Given the description of an element on the screen output the (x, y) to click on. 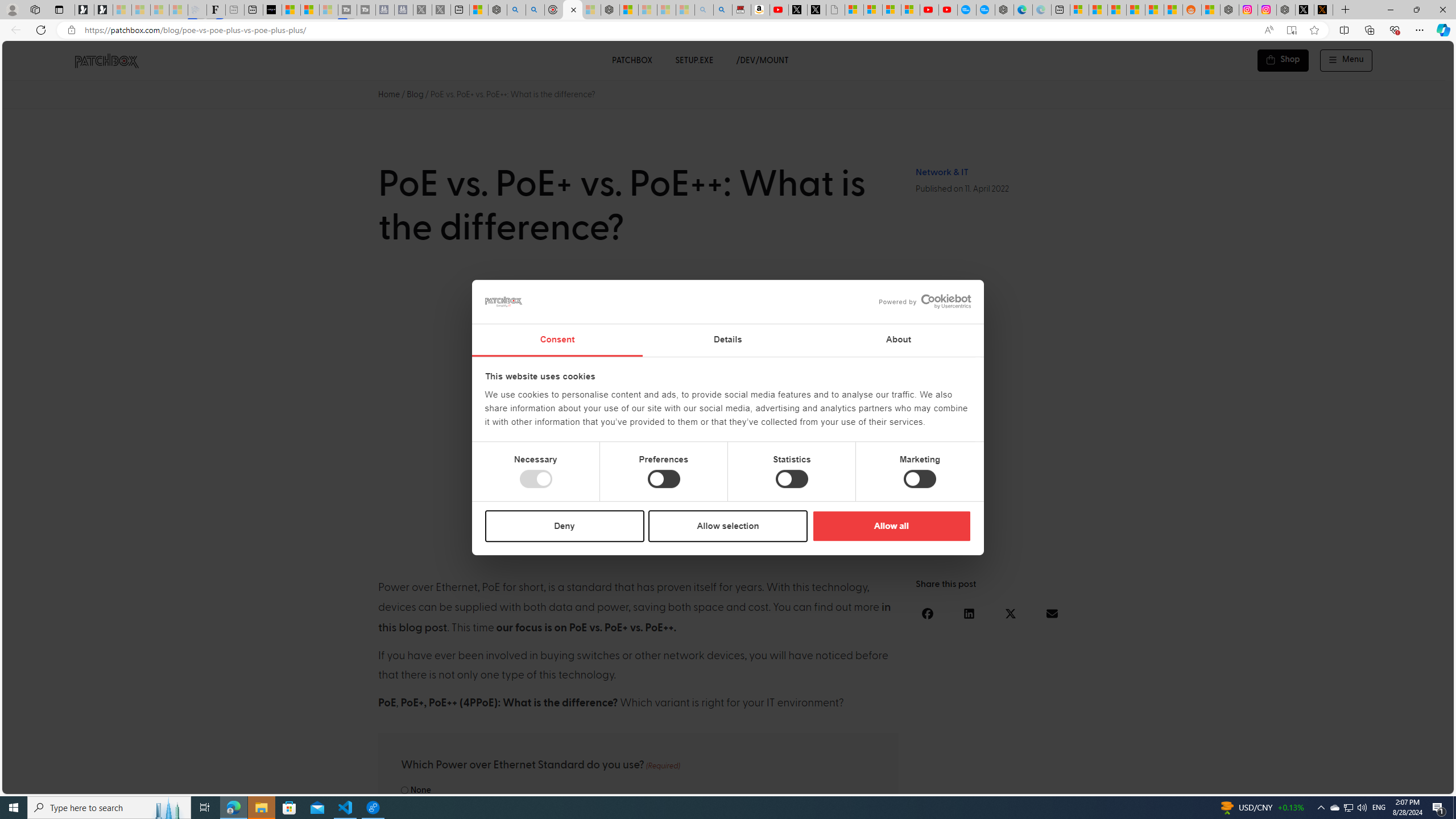
Share on linkedin (968, 613)
Gloom - YouTube (929, 9)
PATCHBOX Simplify IT (114, 60)
The most popular Google 'how to' searches (985, 9)
in this blog post (634, 617)
Shanghai, China Weather trends | Microsoft Weather (1173, 9)
Statistics (791, 479)
Powered by Cookiebot (925, 301)
None (403, 790)
PATCHBOX - Simplify IT (106, 60)
